Given the description of an element on the screen output the (x, y) to click on. 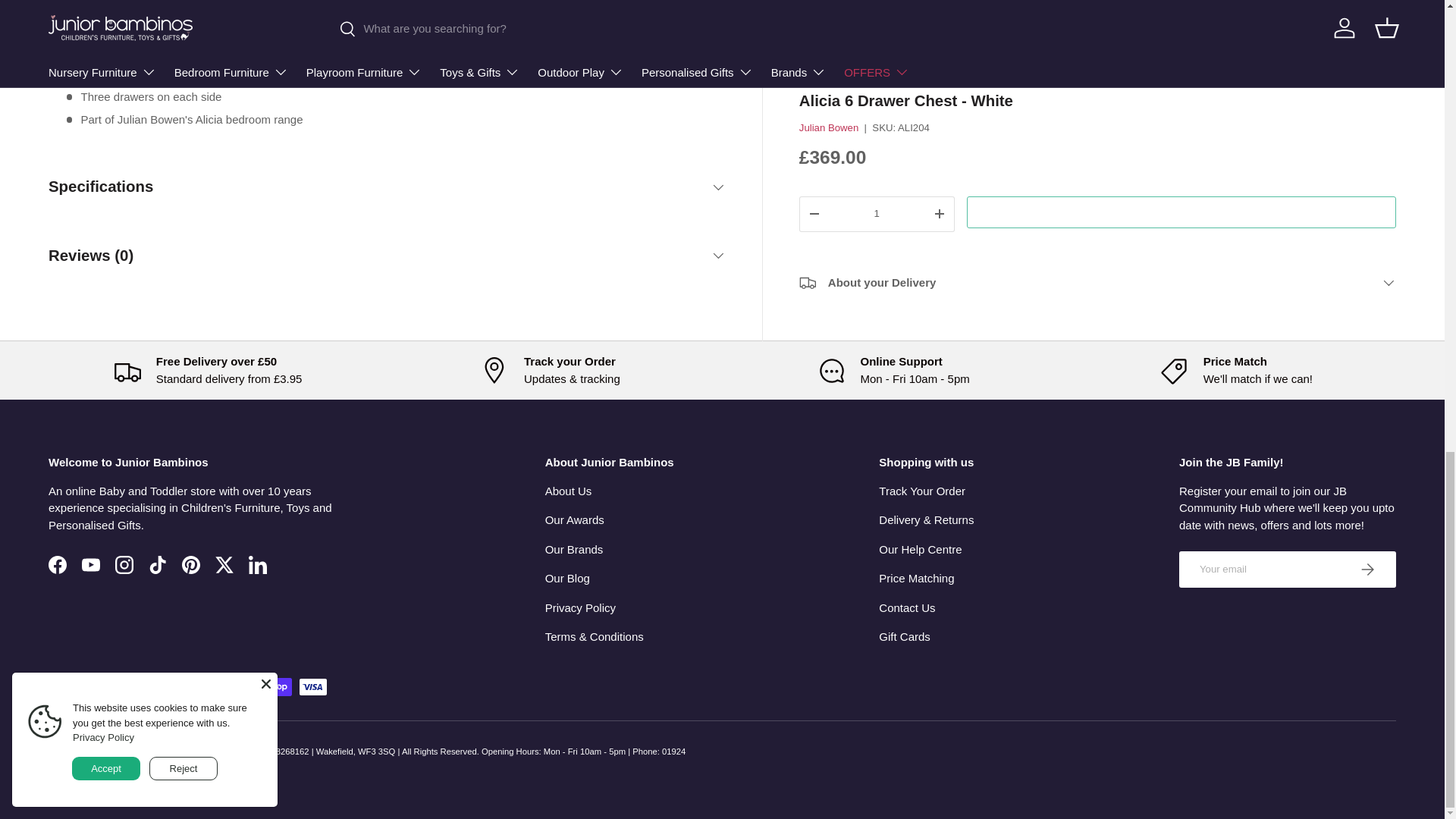
Junior Bambinos on LinkedIn (258, 564)
Junior Bambinos on Twitter (224, 564)
Junior Bambinos on Instagram (124, 564)
Junior Bambinos on Pinterest (191, 564)
Junior Bambinos on Facebook (57, 564)
Junior Bambinos on YouTube (90, 564)
Junior Bambinos on TikTok (157, 564)
